Given the description of an element on the screen output the (x, y) to click on. 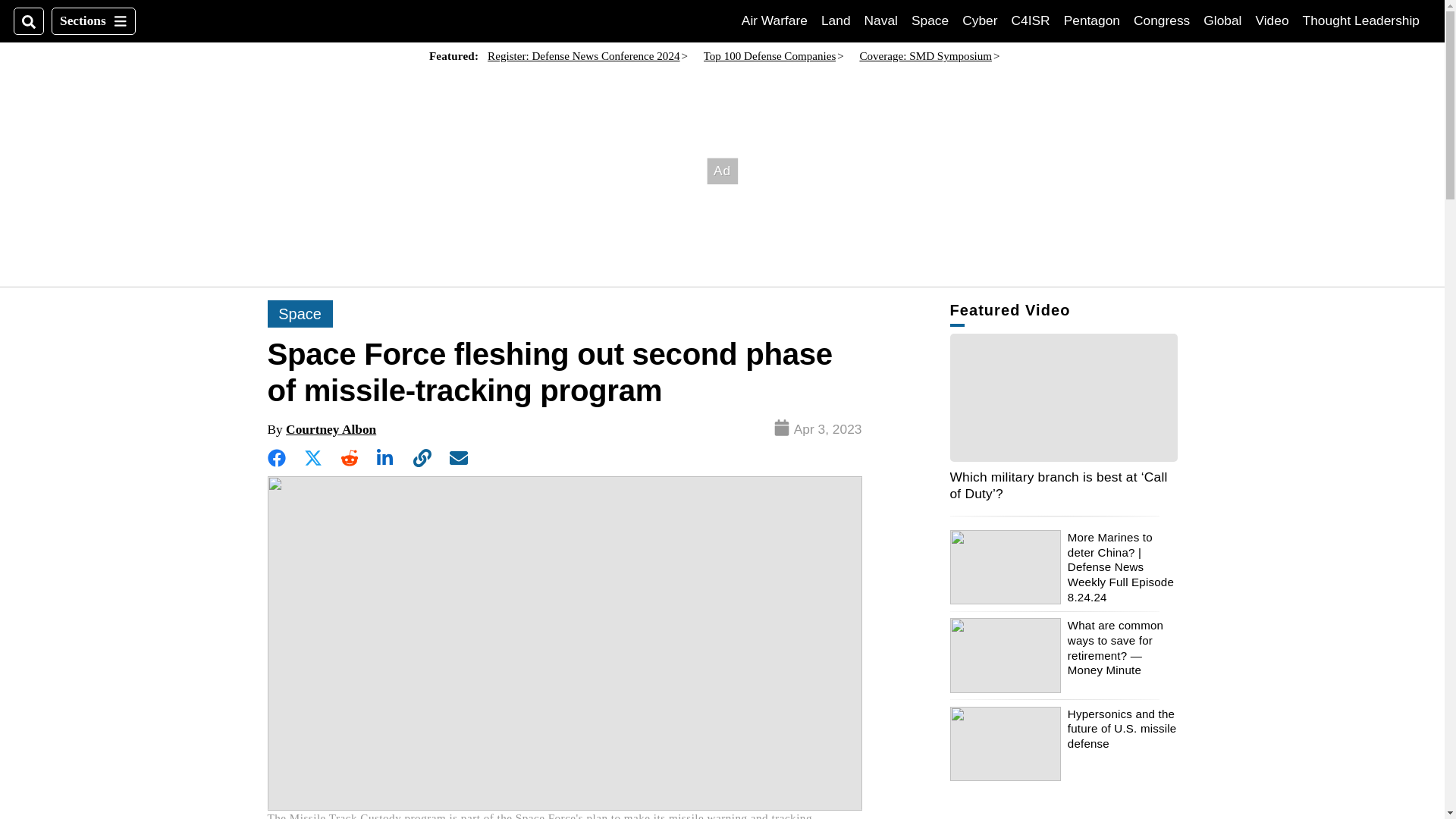
Naval (881, 20)
Land (835, 20)
Global (1222, 20)
Congress (1161, 20)
Space (1030, 20)
Video (930, 20)
Thought Leadership (1271, 20)
Air Warfare (1361, 20)
Sections (774, 20)
